Given the description of an element on the screen output the (x, y) to click on. 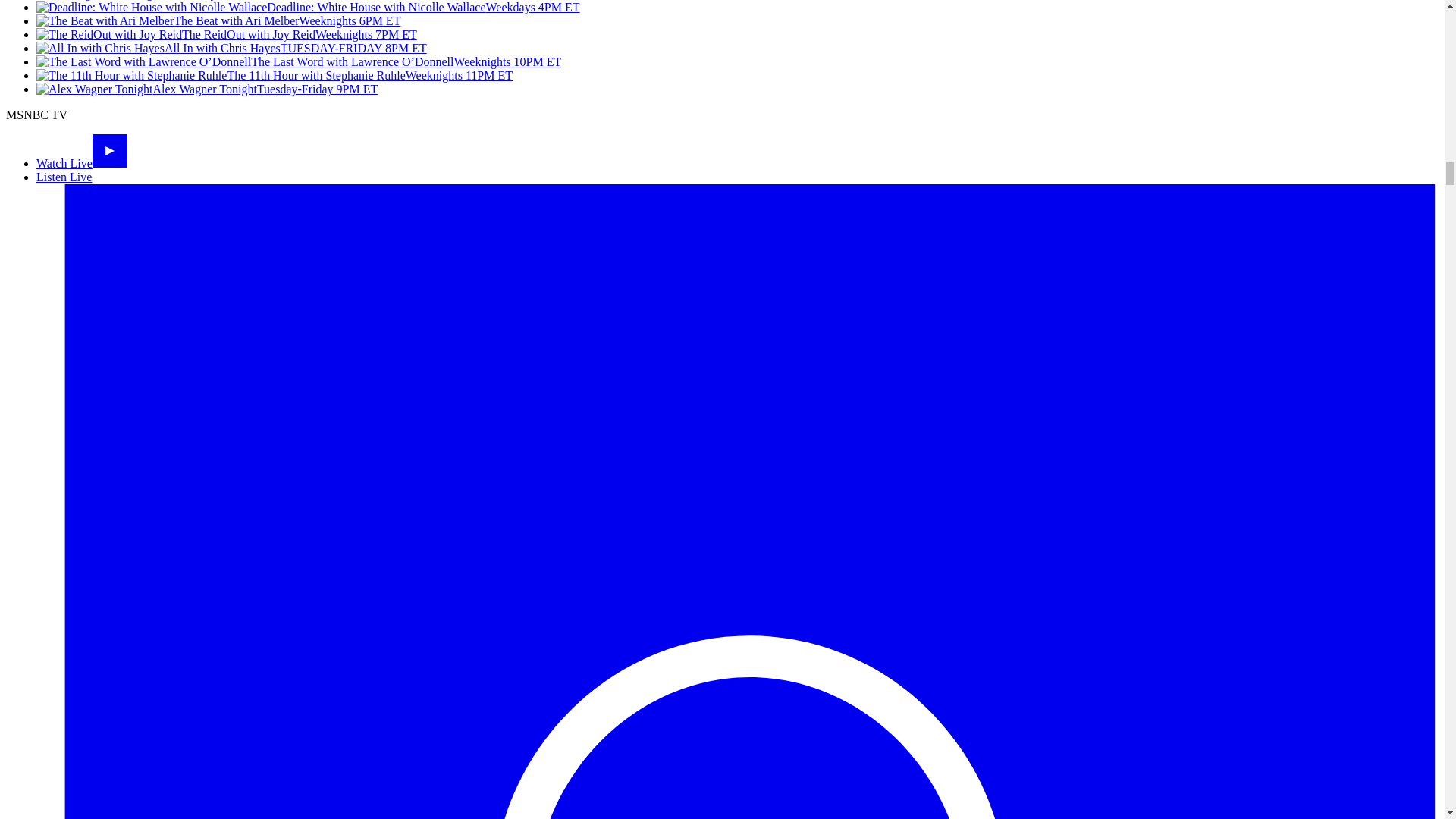
Alex Wagner TonightTuesday-Friday 9PM ET (206, 88)
The 11th Hour with Stephanie RuhleWeeknights 11PM ET (274, 74)
All In with Chris HayesTUESDAY-FRIDAY 8PM ET (231, 47)
Deadline: White House with Nicolle WallaceWeekdays 4PM ET (307, 6)
The ReidOut with Joy ReidWeeknights 7PM ET (226, 33)
The Beat with Ari MelberWeeknights 6PM ET (218, 20)
Watch Live (82, 163)
